Given the description of an element on the screen output the (x, y) to click on. 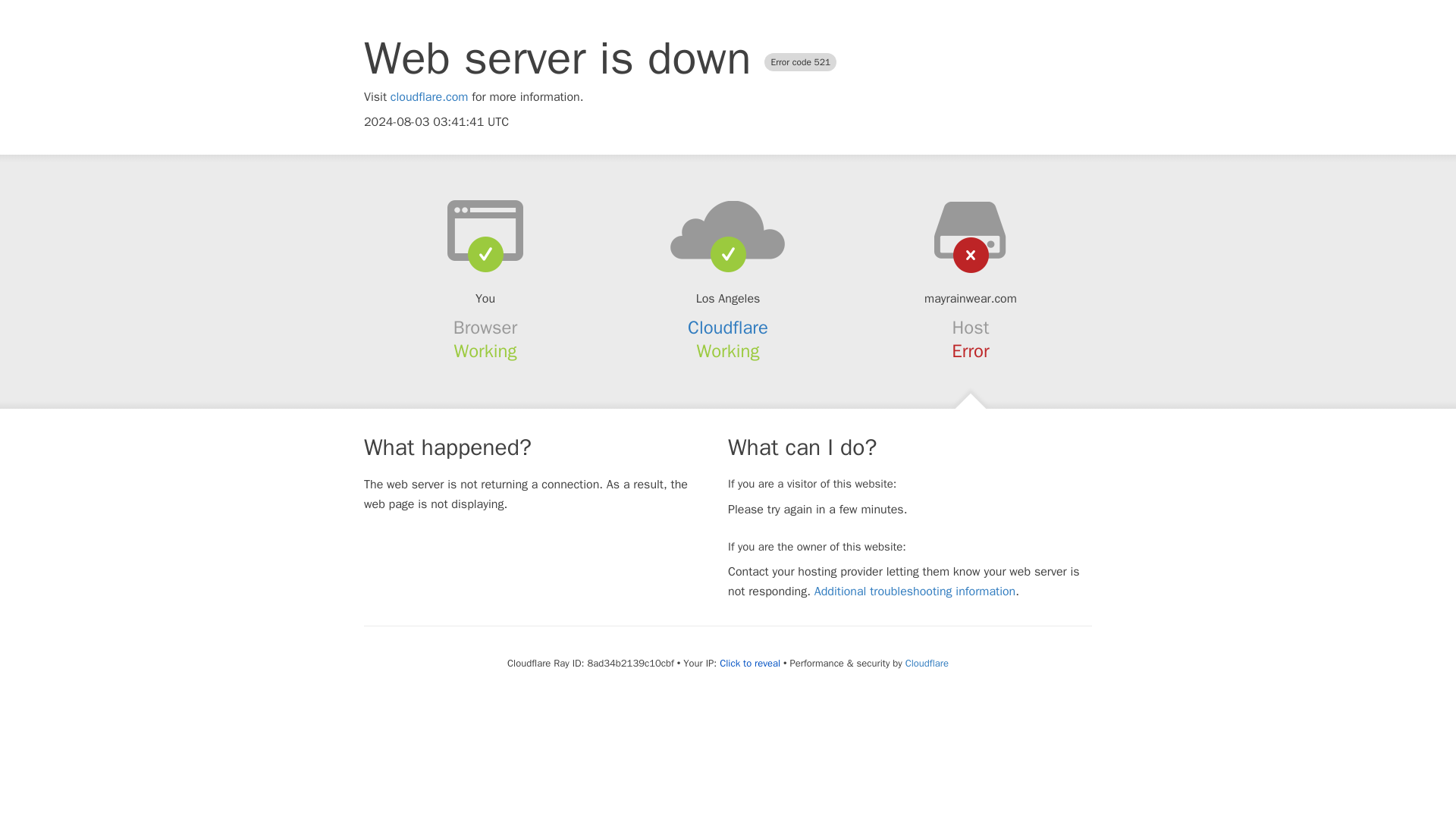
Additional troubleshooting information (913, 590)
cloudflare.com (429, 96)
Click to reveal (749, 663)
Cloudflare (927, 662)
Cloudflare (727, 327)
